Given the description of an element on the screen output the (x, y) to click on. 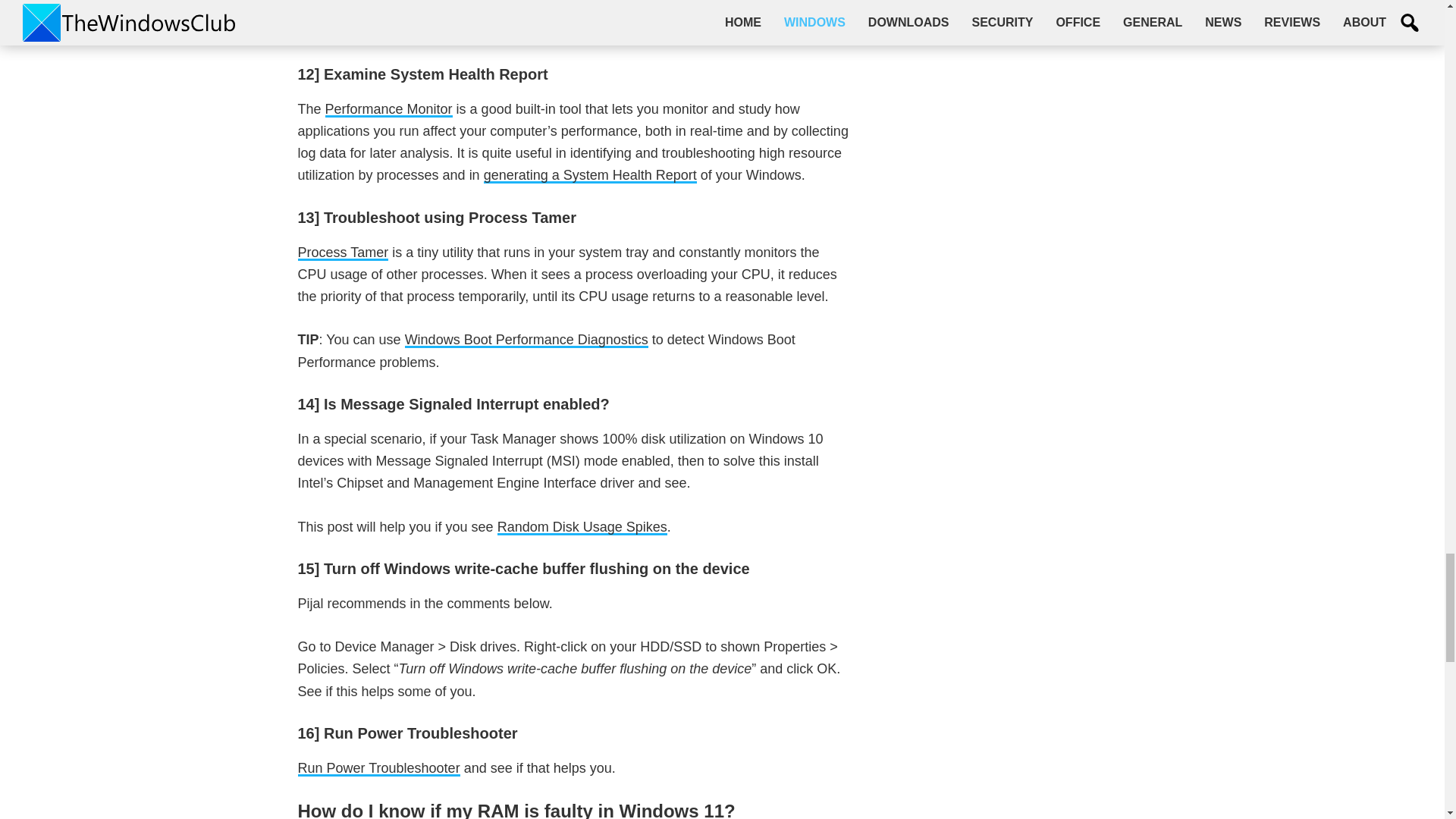
Process Tamer (342, 252)
Windows Boot Performance Diagnostics (525, 340)
Run Power Troubleshooter (378, 768)
Random Disk Usage Spikes (581, 526)
generate system health report perfmon (590, 175)
Refresh Windows Tool (639, 10)
Performance Monitor (388, 109)
performance monitor windows 8 (388, 109)
generating a System Health Report (590, 175)
